Given the description of an element on the screen output the (x, y) to click on. 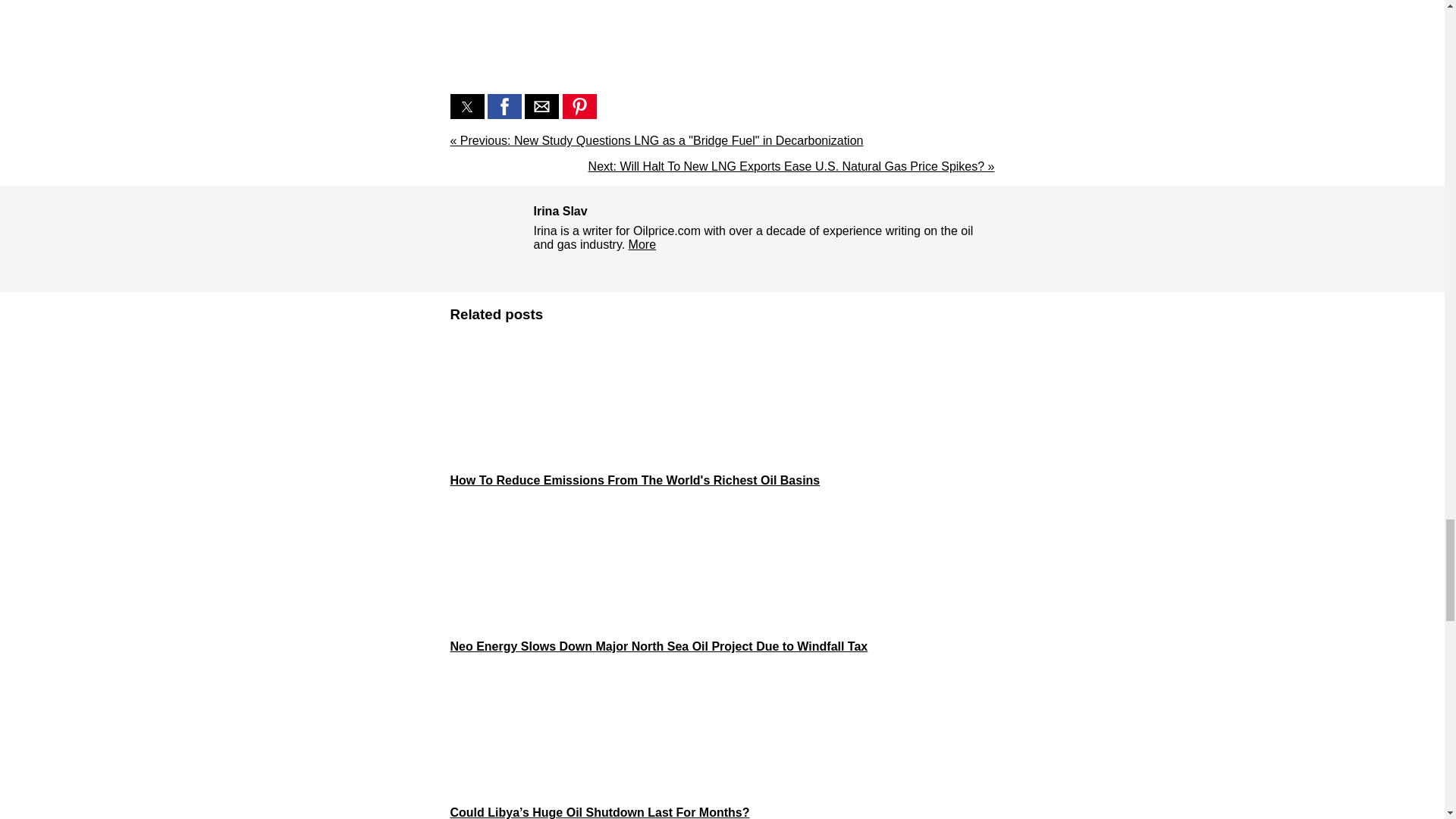
How To Reduce Emissions From The World's Richest Oil Basins (721, 412)
More (642, 244)
